Given the description of an element on the screen output the (x, y) to click on. 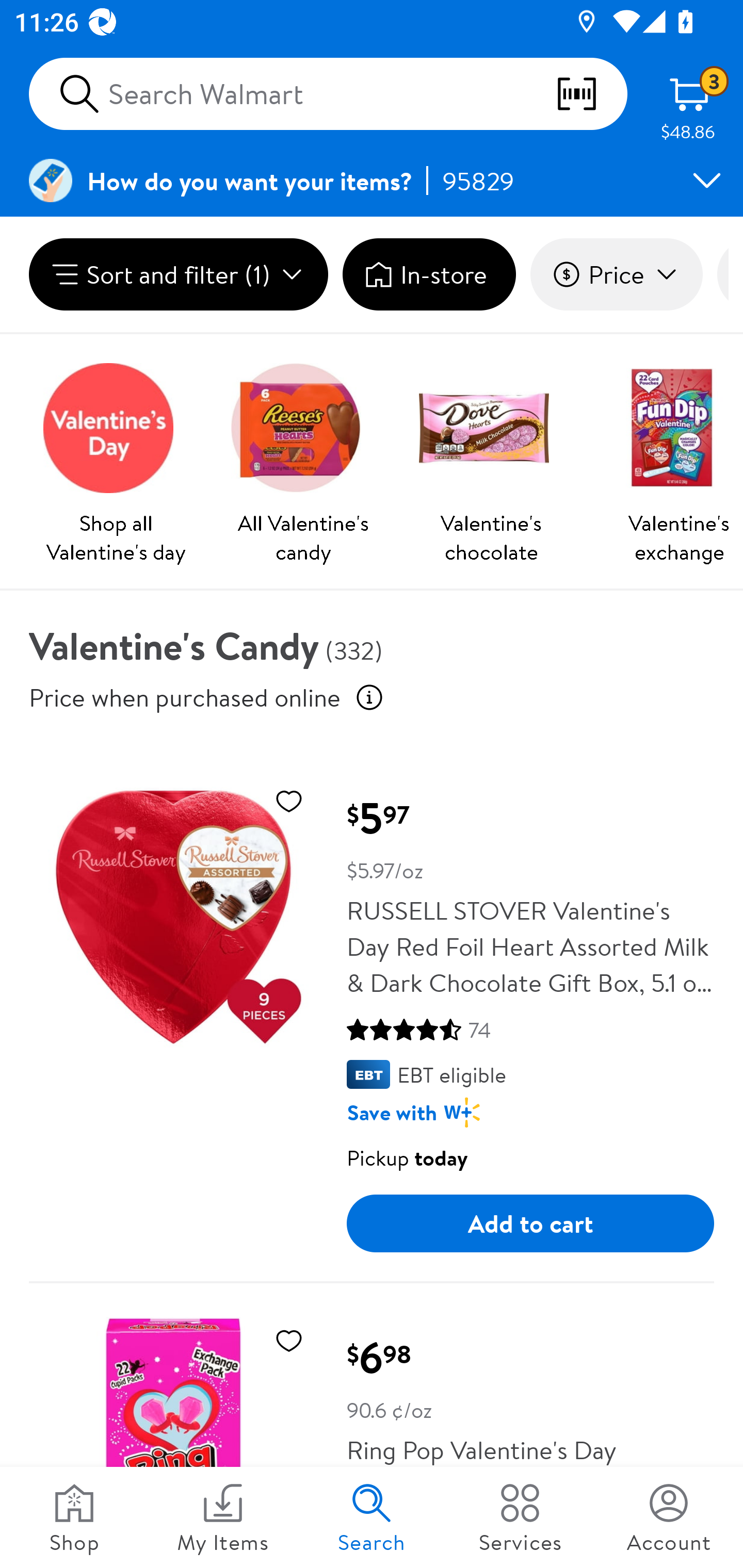
Search Walmart scan barcodes qr codes and more (327, 94)
scan barcodes qr codes and more (591, 94)
Filter by In-store, applied,  Filter icon In-store (428, 274)
Price when purchased online (184, 696)
Price when purchased online (369, 697)
Add to cart (530, 1223)
Shop (74, 1517)
My Items (222, 1517)
Services (519, 1517)
Account (668, 1517)
